Given the description of an element on the screen output the (x, y) to click on. 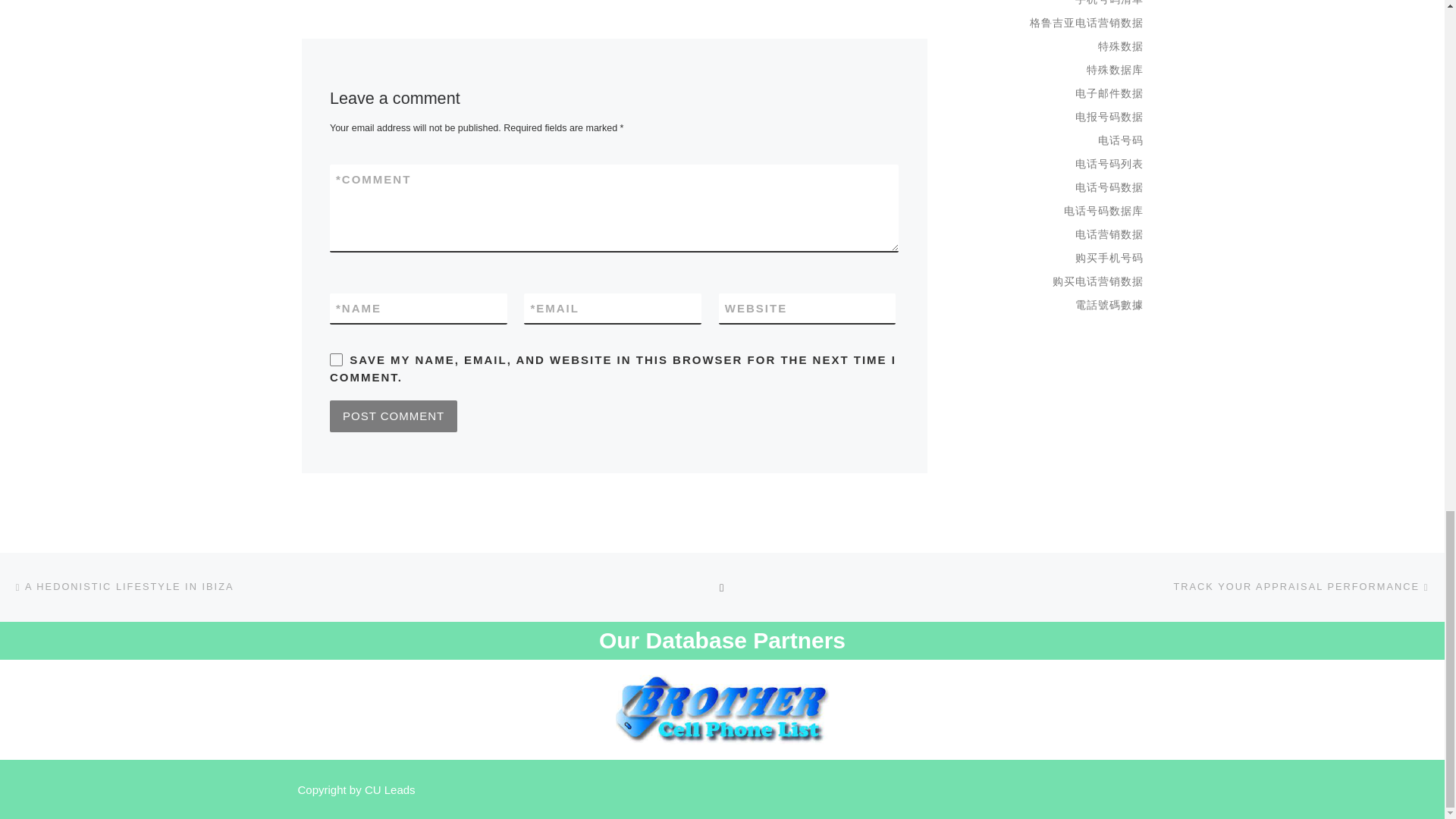
yes (336, 359)
Post Comment (393, 416)
